Given the description of an element on the screen output the (x, y) to click on. 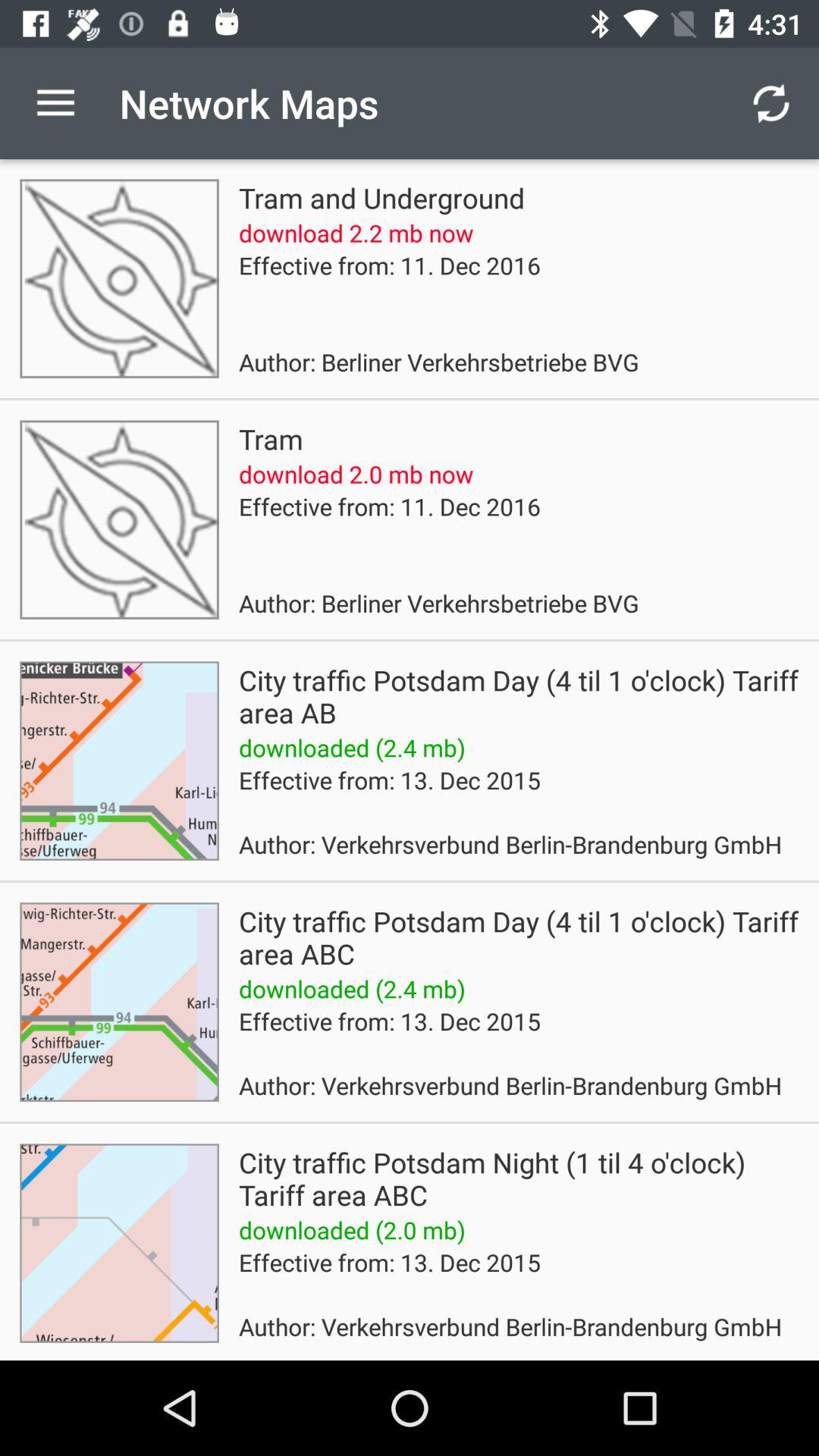
open app below the network maps icon (381, 197)
